Given the description of an element on the screen output the (x, y) to click on. 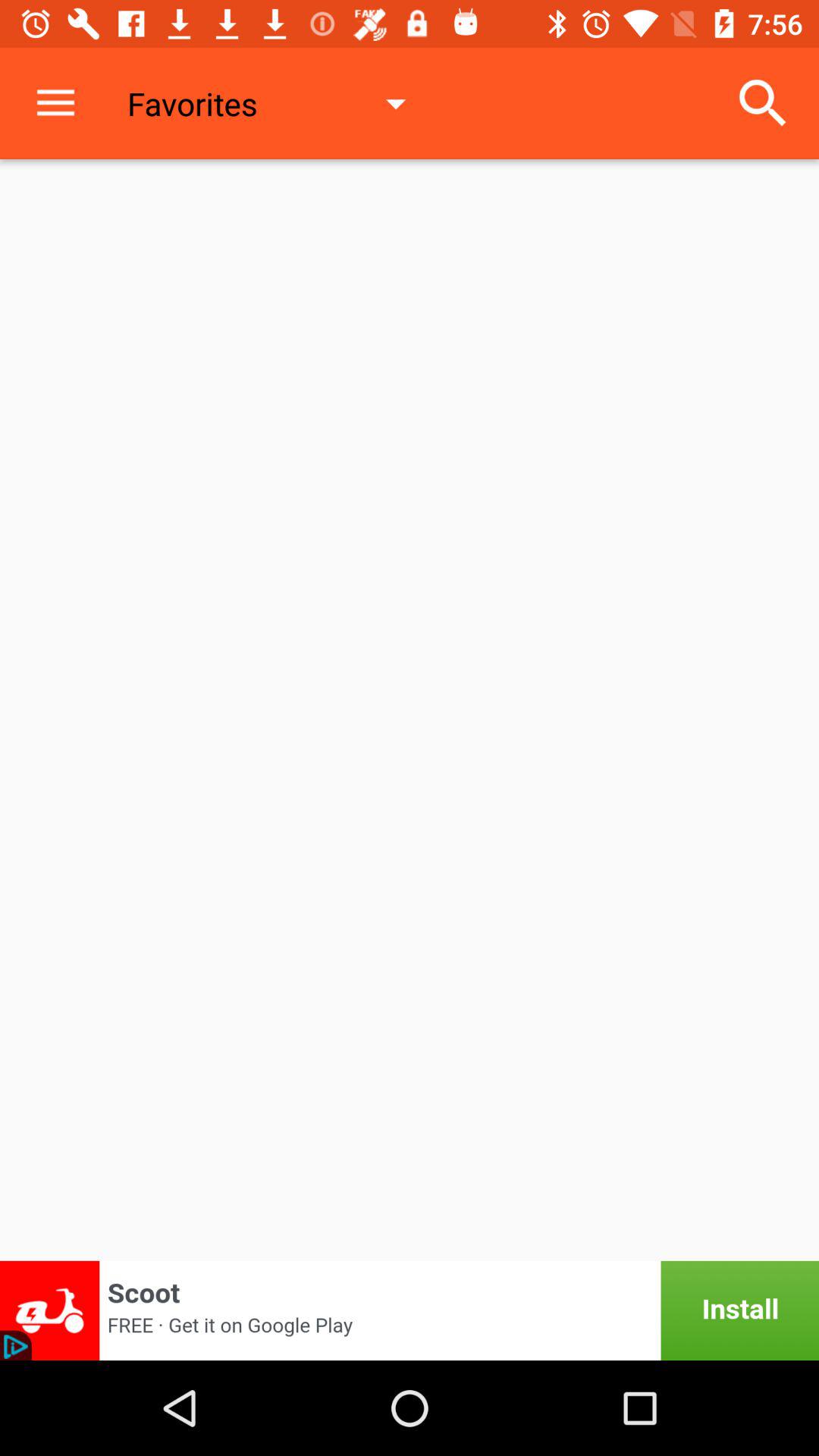
know about the advertisement (409, 1310)
